Given the description of an element on the screen output the (x, y) to click on. 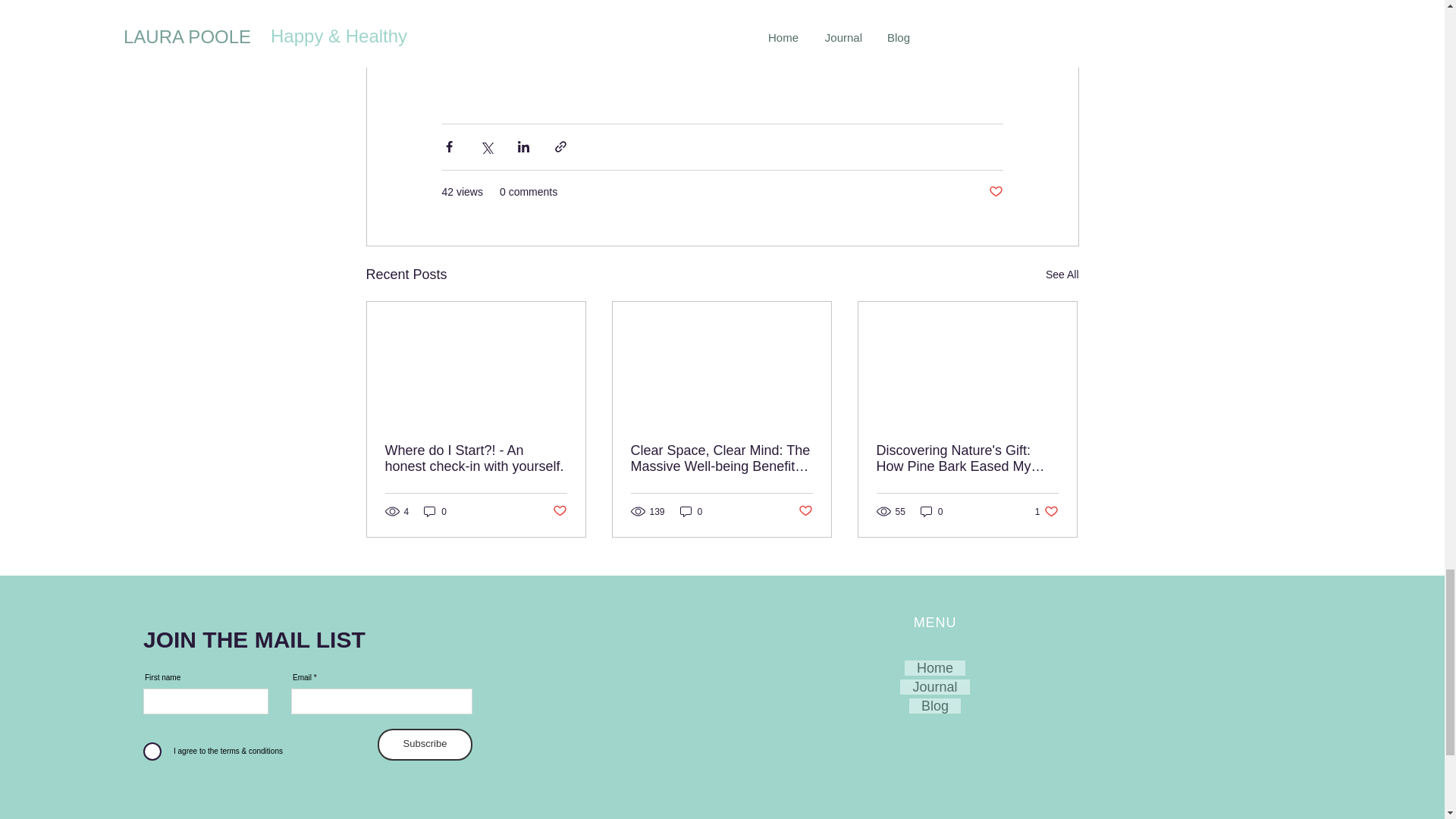
Post not marked as liked (1046, 511)
Subscribe (558, 511)
Post not marked as liked (424, 744)
See All (804, 511)
0 (1061, 274)
0 (931, 511)
Post not marked as liked (691, 511)
Home (995, 191)
